Given the description of an element on the screen output the (x, y) to click on. 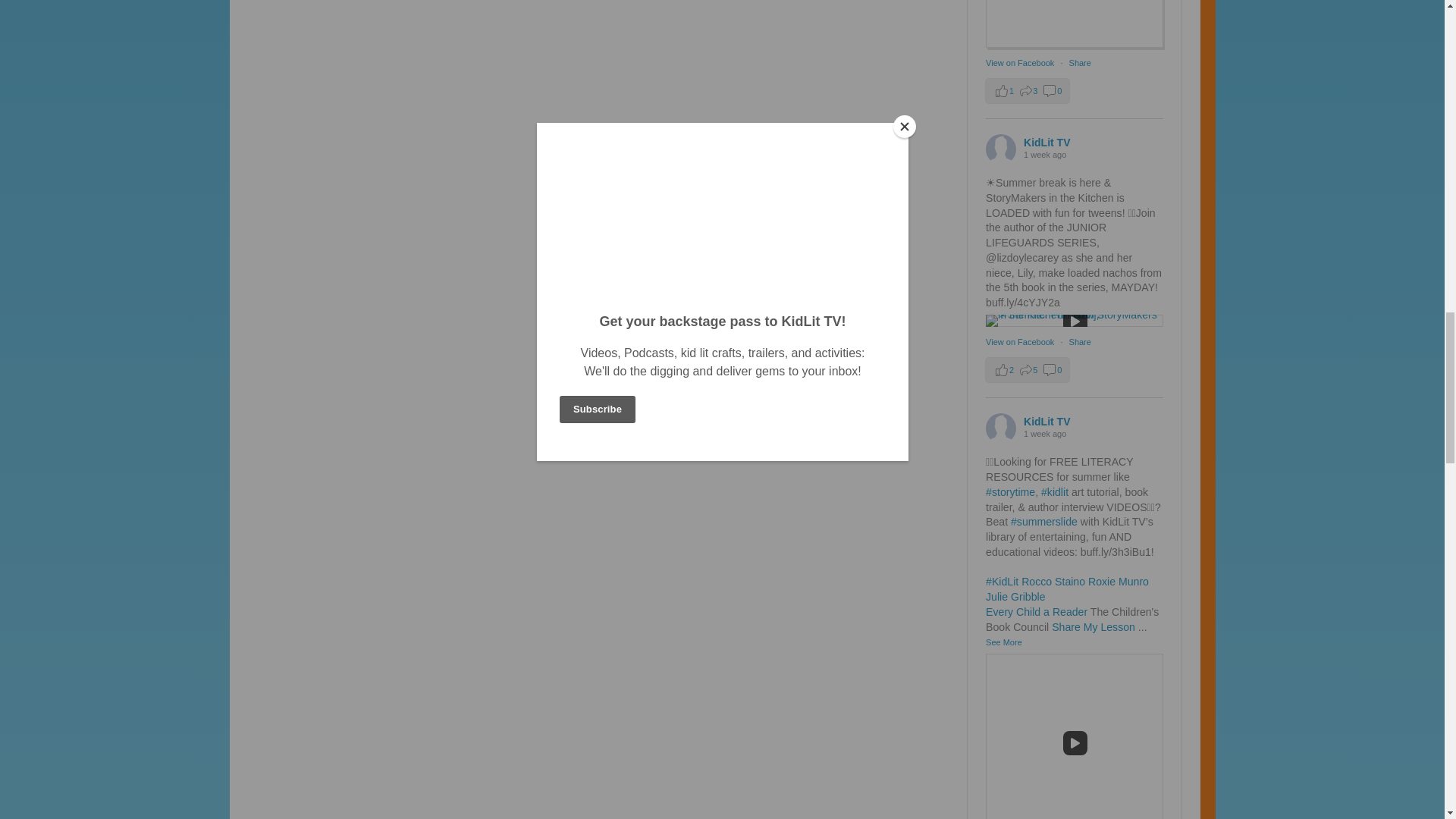
Share (1079, 341)
View on Facebook (1021, 341)
View on Facebook (1021, 62)
Share (1079, 62)
